Given the description of an element on the screen output the (x, y) to click on. 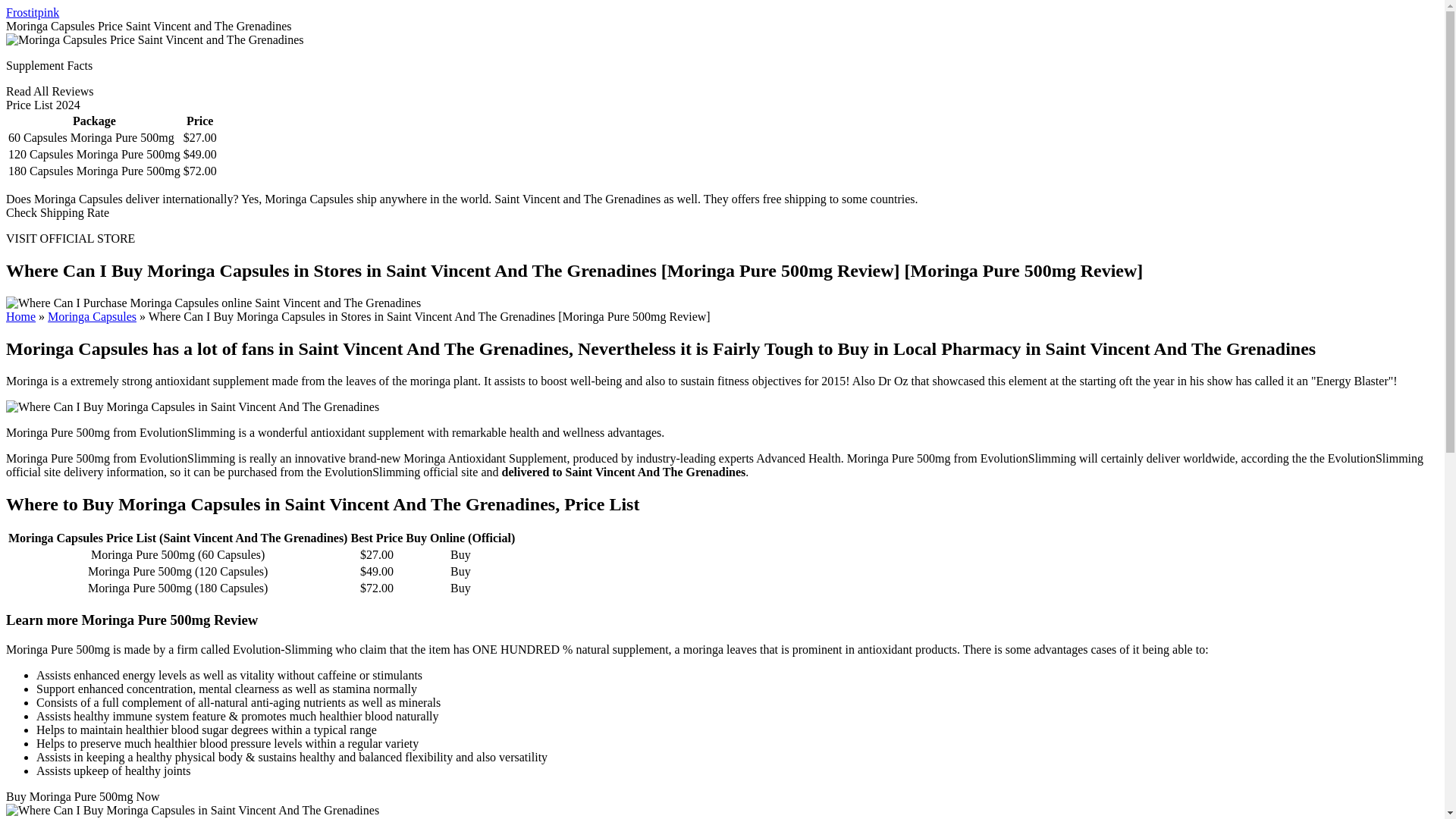
Home (19, 316)
Moringa Capsules Price Saint Vincent and The Grenadines (154, 39)
Buy Moringa Capsules Online  (92, 316)
Frostitpink (32, 11)
Buy Moringa Capsules online Saint Vincent and The Grenadines (212, 303)
Frostitpink (32, 11)
Moringa Capsules (92, 316)
